Given the description of an element on the screen output the (x, y) to click on. 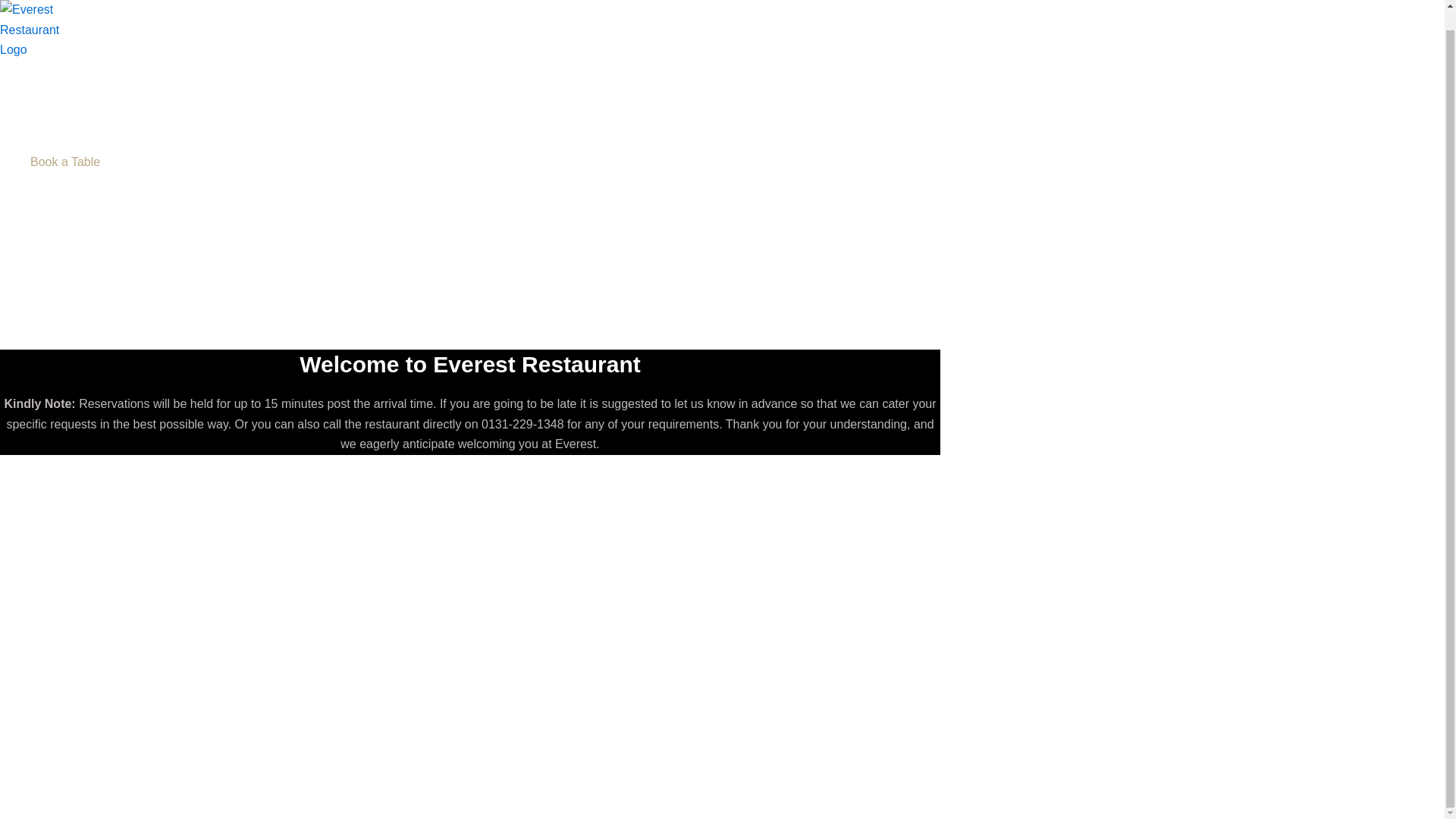
About Us (75, 182)
Menu (75, 102)
Takeaway Menu (75, 121)
Click and Collect (75, 142)
Book a Table (75, 161)
Contact Us (75, 202)
Home (75, 82)
